Given the description of an element on the screen output the (x, y) to click on. 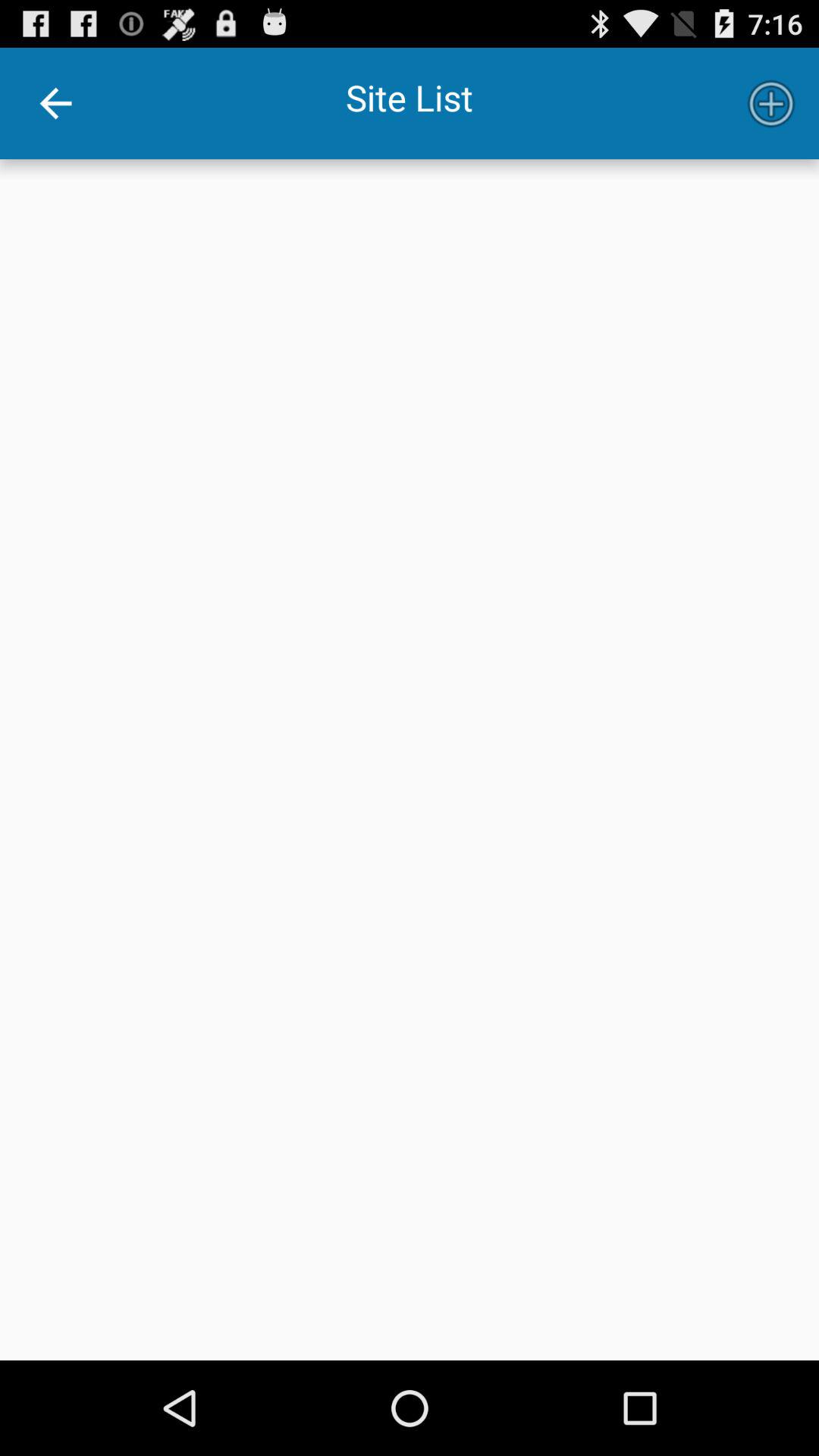
choose the item next to site list (55, 103)
